Given the description of an element on the screen output the (x, y) to click on. 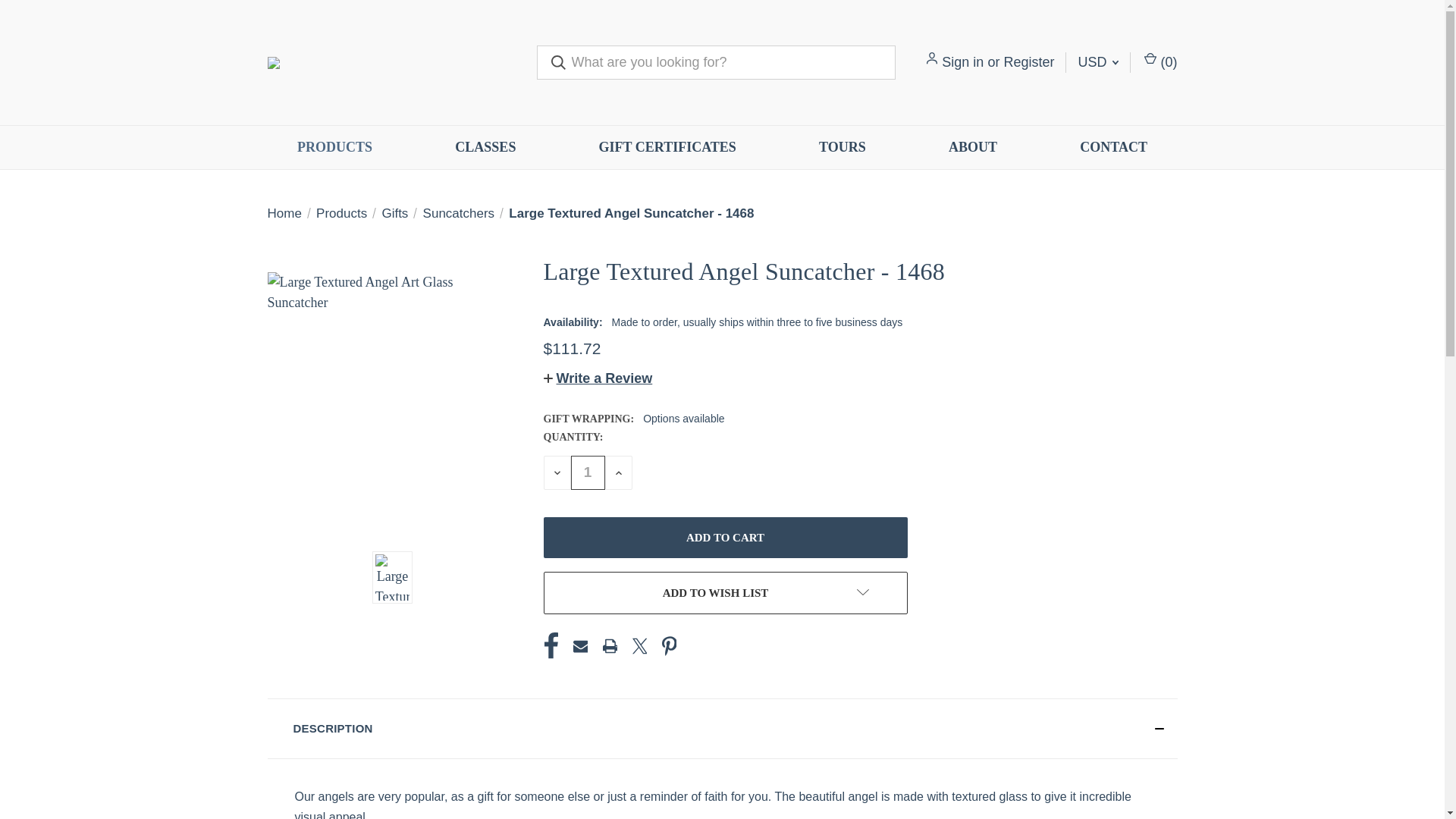
Register (1028, 62)
Add to Cart (725, 536)
PRODUCTS (334, 147)
1 (587, 471)
Kokomo Opalescent Glass Co. (389, 61)
Sign in (963, 62)
USD (1097, 62)
Large Textured Angel Art Glass Suncatcher (390, 395)
